Given the description of an element on the screen output the (x, y) to click on. 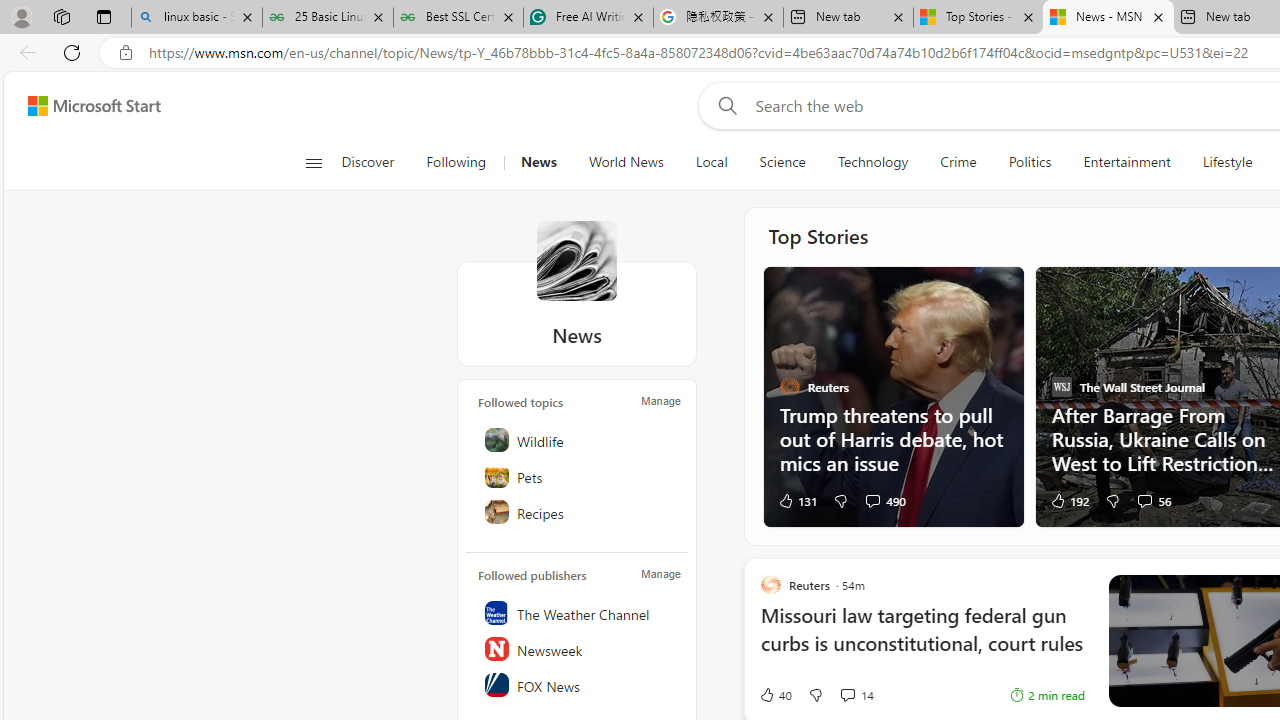
View comments 14 Comment (855, 695)
View comments 56 Comment (1144, 500)
Pets (578, 475)
